Given the description of an element on the screen output the (x, y) to click on. 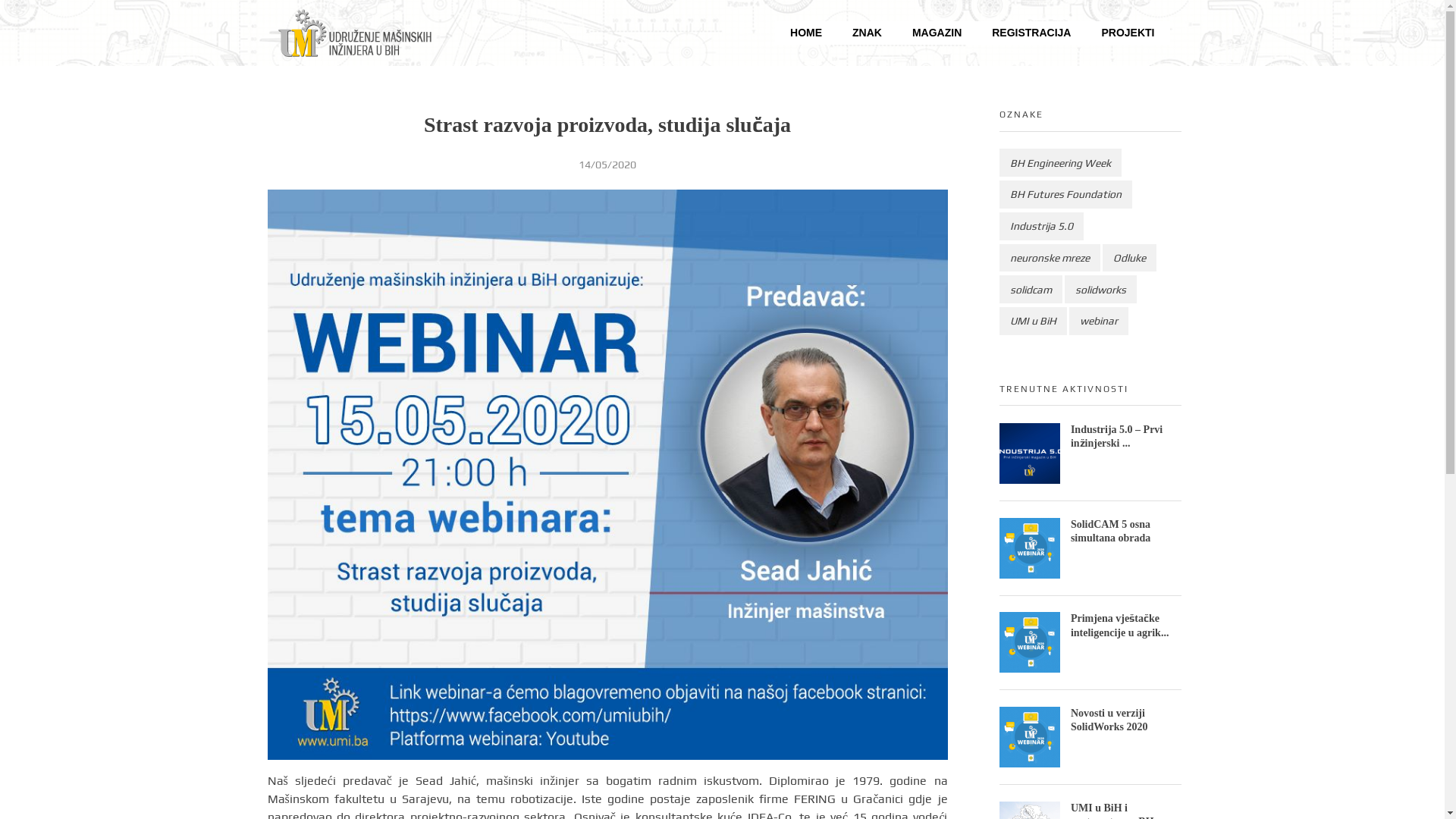
BH Engineering Week Element type: text (1060, 162)
solidcam Element type: text (1030, 289)
HOME Element type: text (806, 32)
BH Futures Foundation Element type: text (1065, 194)
Umi u BiH Element type: hover (388, 33)
UMI u BiH Element type: text (1032, 321)
solidworks Element type: text (1100, 289)
Industrija 5.0 Element type: text (1041, 226)
MAGAZIN Element type: text (936, 32)
webinar Element type: text (1098, 321)
Novosti u verziji SolidWorks 2020 Element type: text (1109, 719)
Odluke Element type: text (1129, 258)
neuronske mreze Element type: text (1049, 258)
ZNAK Element type: text (867, 32)
REGISTRACIJA Element type: text (1030, 32)
PROJEKTI Element type: text (1127, 32)
SolidCAM 5 osna simultana obrada Element type: text (1110, 530)
Umi u BiH Element type: text (317, 69)
